Given the description of an element on the screen output the (x, y) to click on. 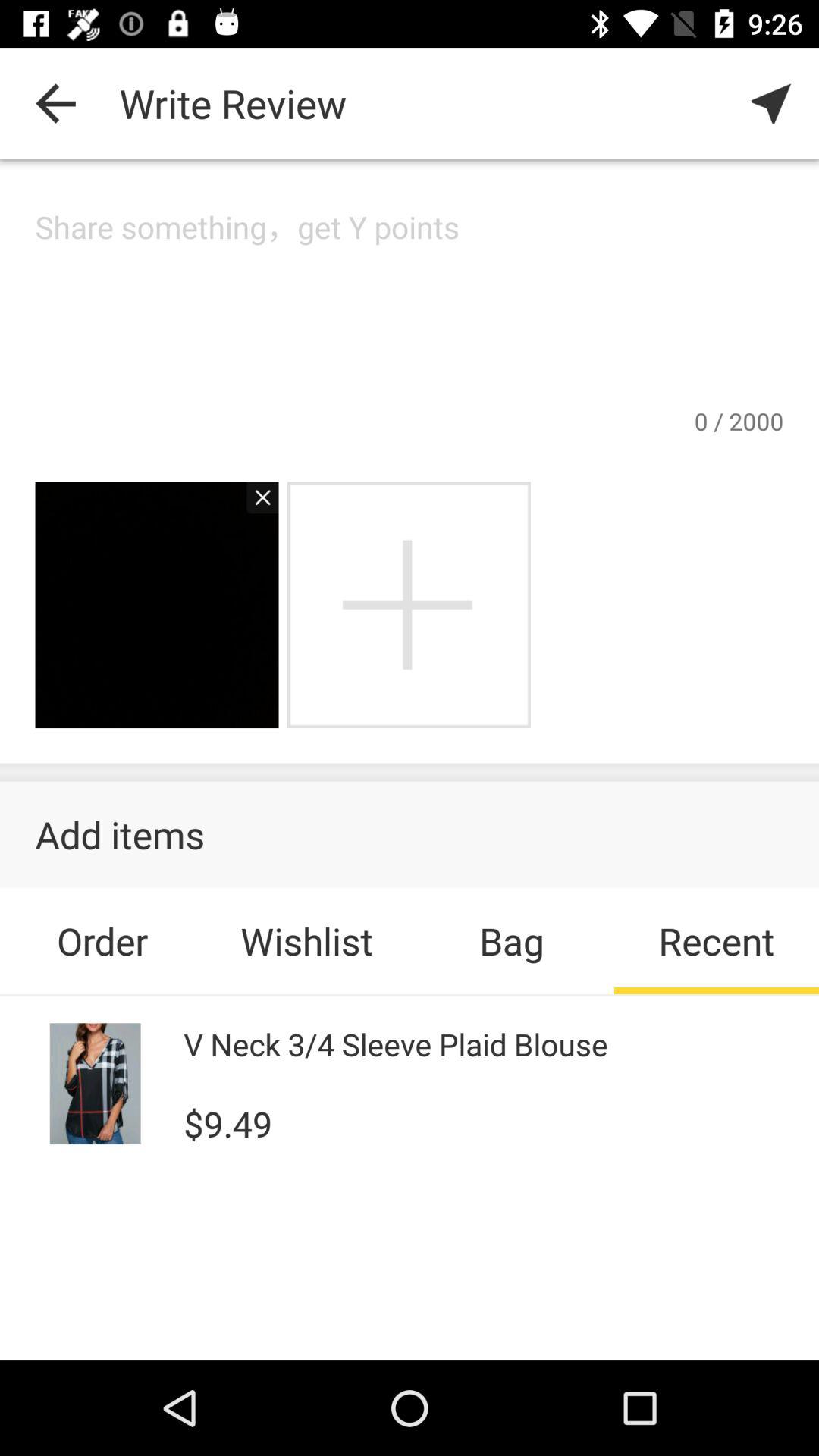
click item next to the v neck 3 icon (95, 1083)
